Given the description of an element on the screen output the (x, y) to click on. 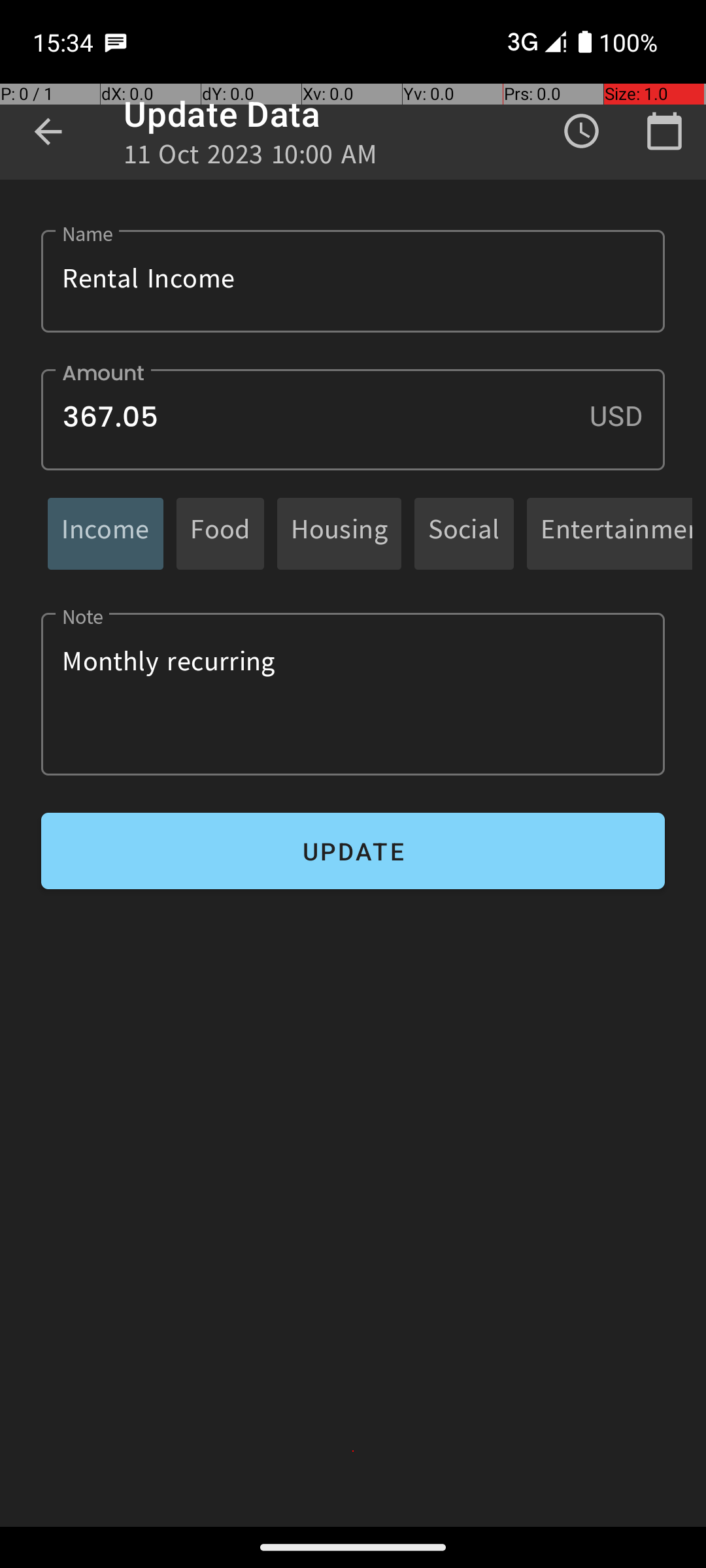
11 Oct 2023 10:00 AM Element type: android.widget.TextView (250, 157)
Rental Income Element type: android.widget.EditText (352, 280)
367.05 Element type: android.widget.EditText (352, 419)
Monthly recurring Element type: android.widget.EditText (352, 693)
